Given the description of an element on the screen output the (x, y) to click on. 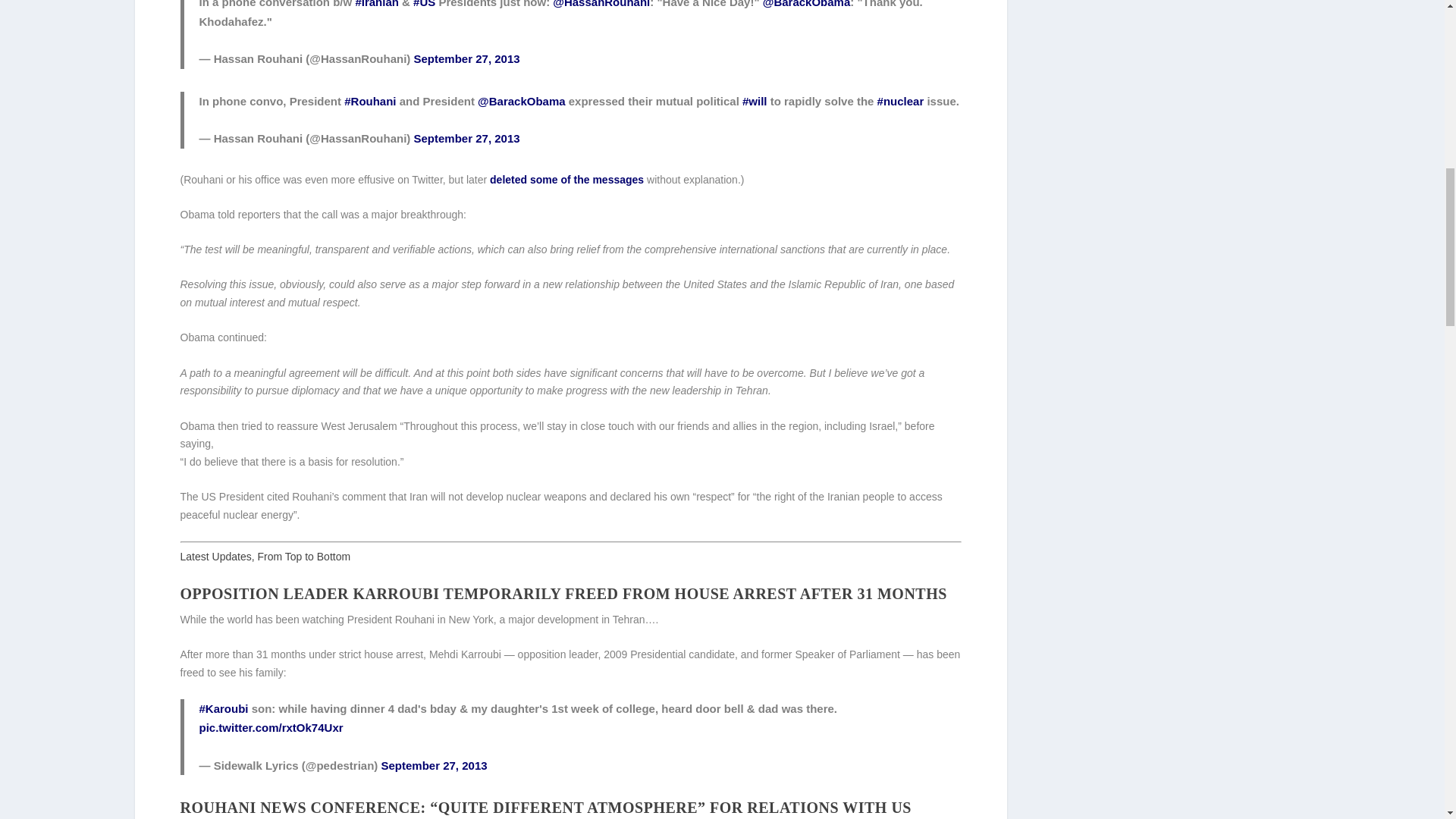
September 27, 2013 (466, 58)
September 27, 2013 (466, 137)
deleted some of the messages (566, 179)
